Given the description of an element on the screen output the (x, y) to click on. 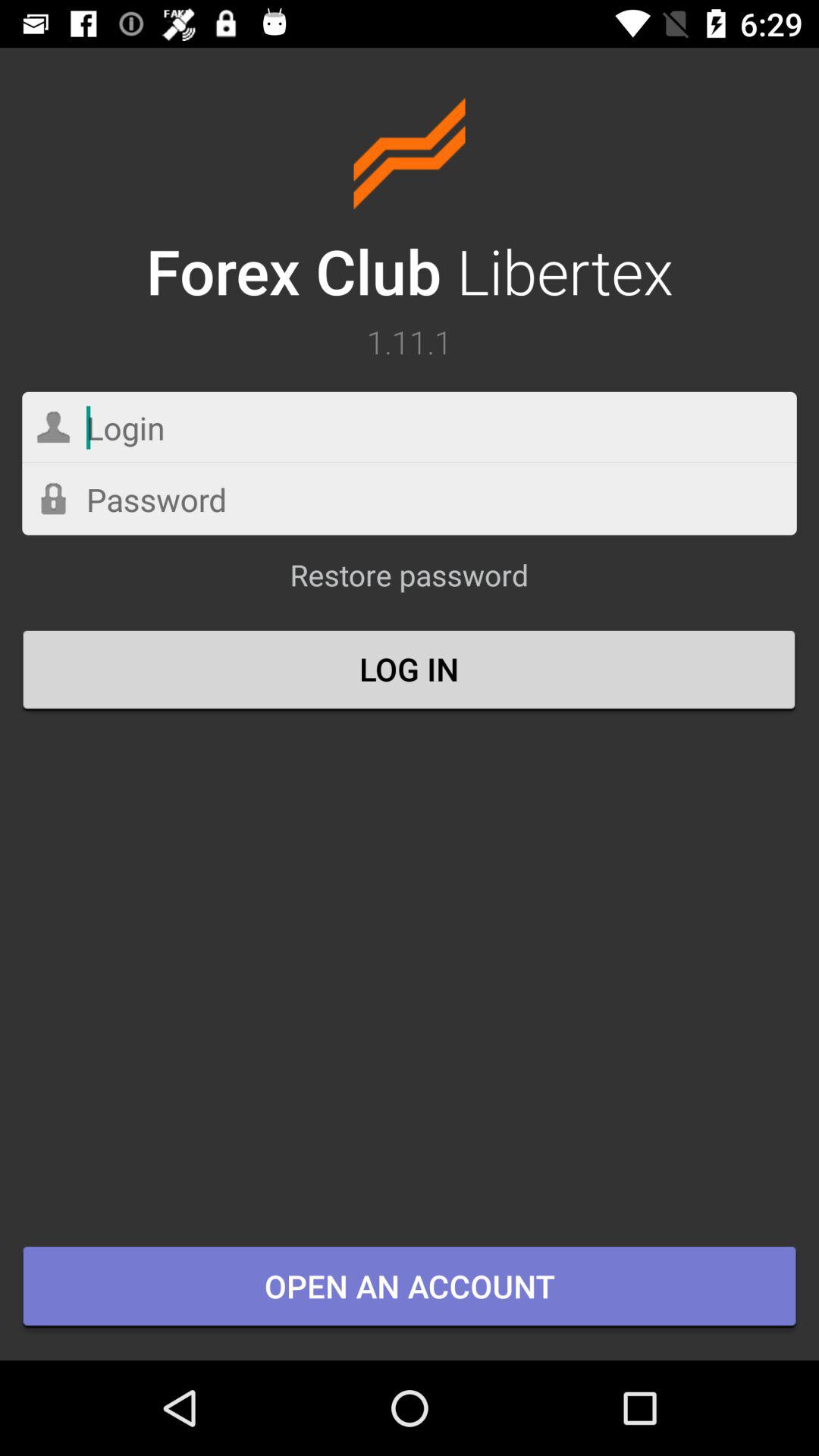
enter login (409, 427)
